Given the description of an element on the screen output the (x, y) to click on. 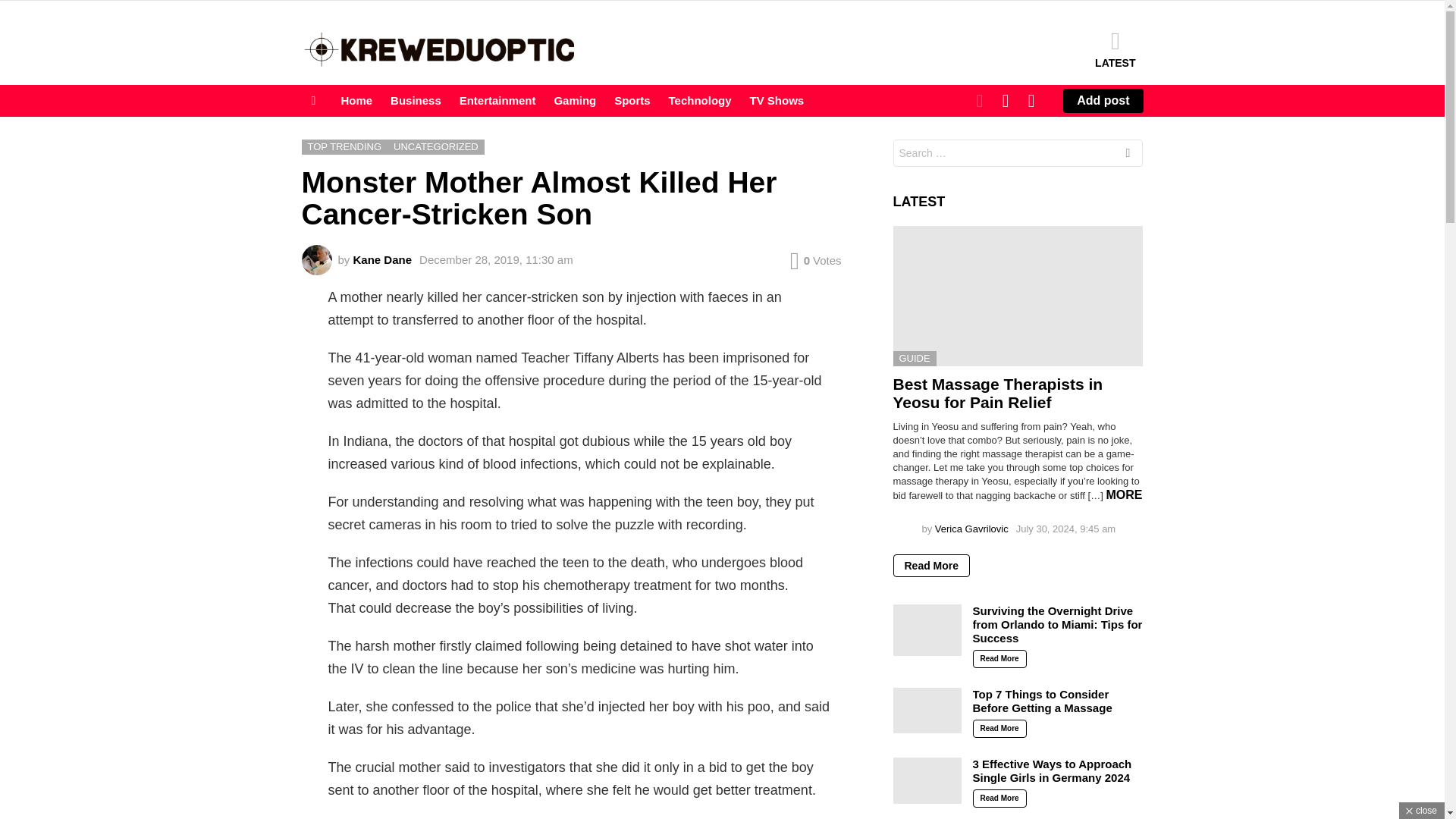
Home (356, 100)
LOGIN (1031, 100)
Technology (700, 100)
UNCATEGORIZED (435, 146)
Kane Dane (382, 259)
Sports (632, 100)
Gaming (575, 100)
LATEST (1114, 48)
Entertainment (497, 100)
Add post (1102, 100)
TOP TRENDING (344, 146)
TV Shows (777, 100)
SEARCH (1004, 100)
Business (415, 100)
Menu (313, 100)
